Given the description of an element on the screen output the (x, y) to click on. 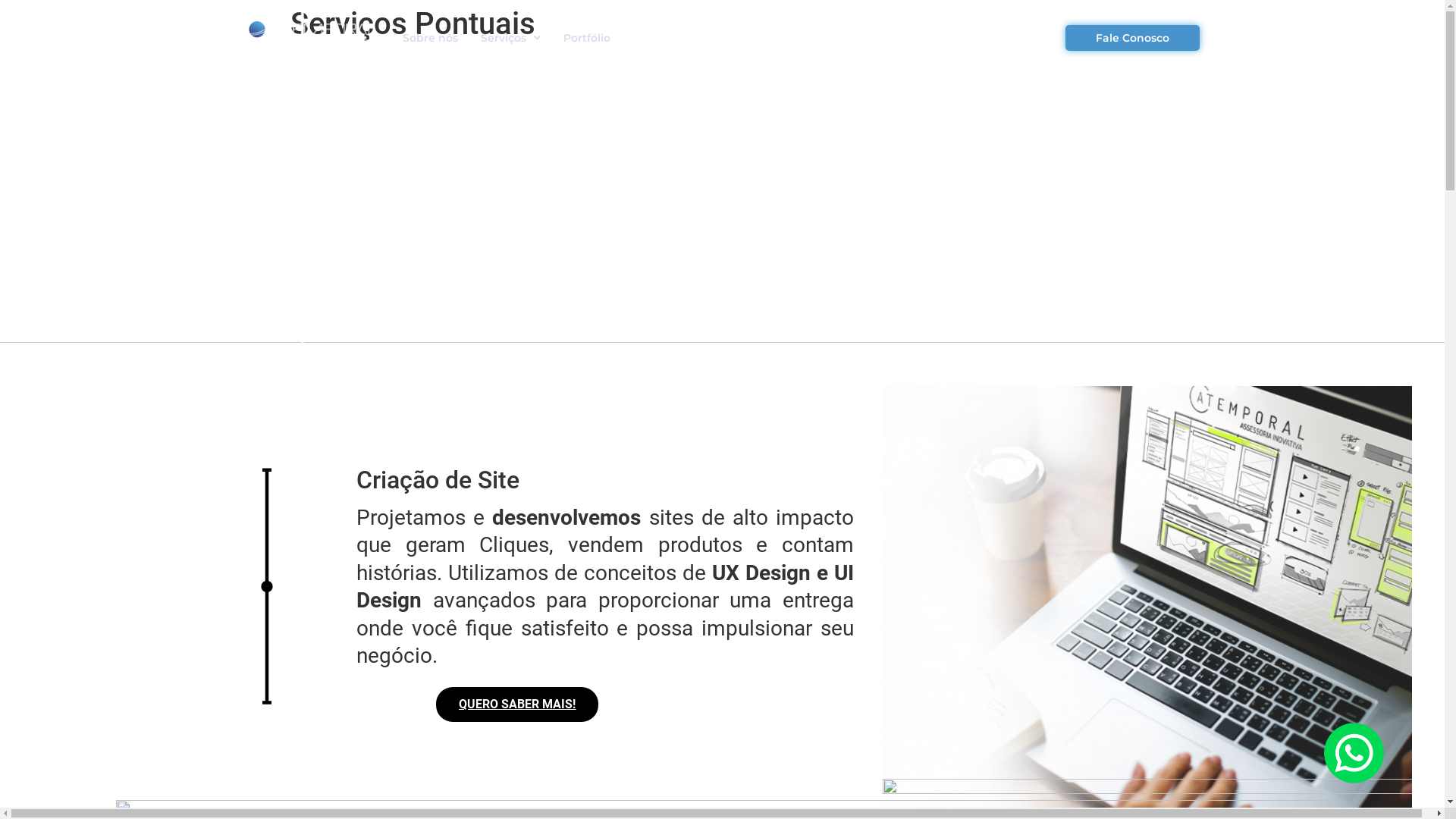
WhatsApp Element type: hover (1353, 752)
QUERO SABER MAIS! Element type: text (517, 704)
Fale Conosco Element type: text (1132, 37)
